Given the description of an element on the screen output the (x, y) to click on. 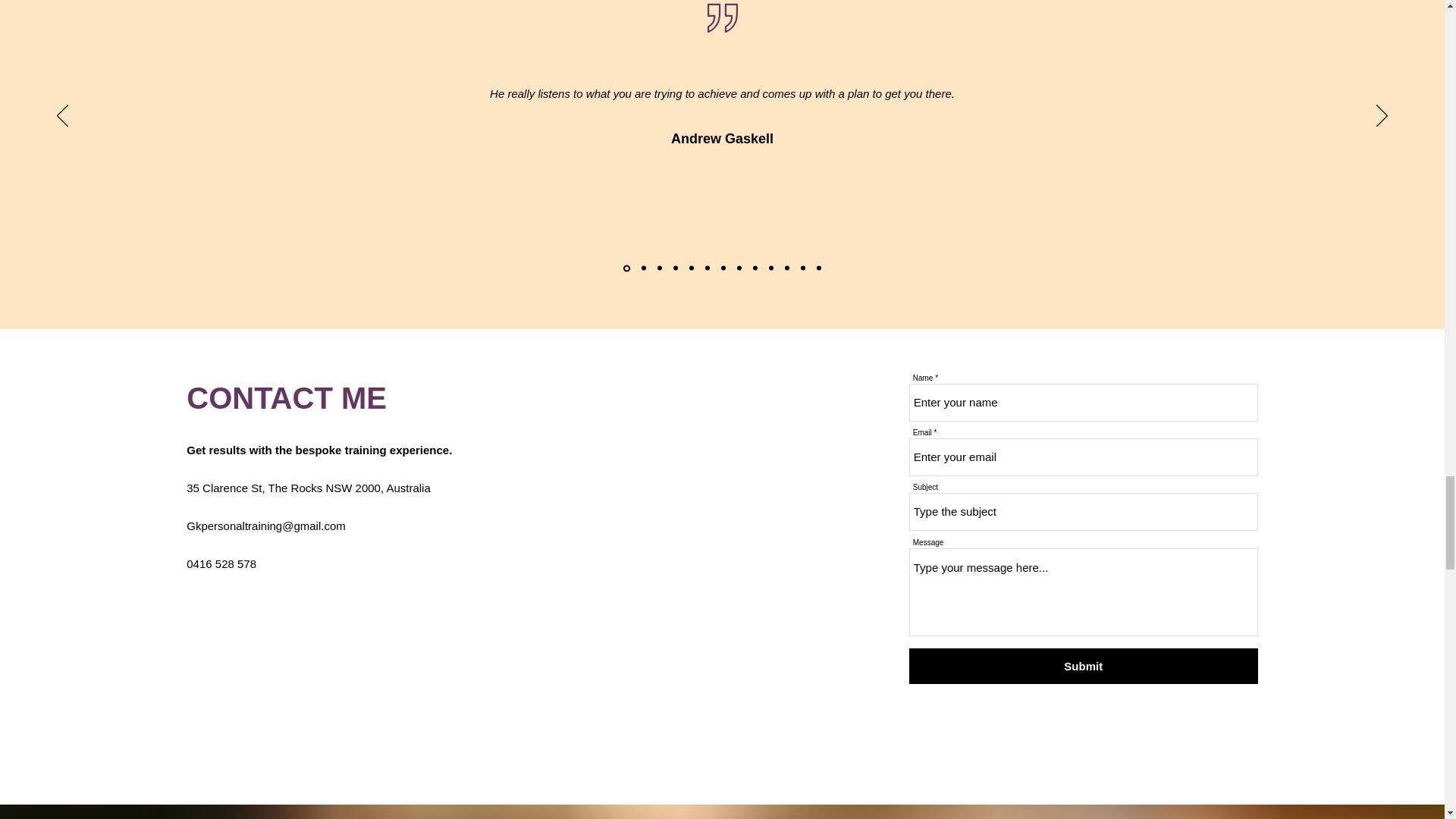
Submit (1082, 665)
